Given the description of an element on the screen output the (x, y) to click on. 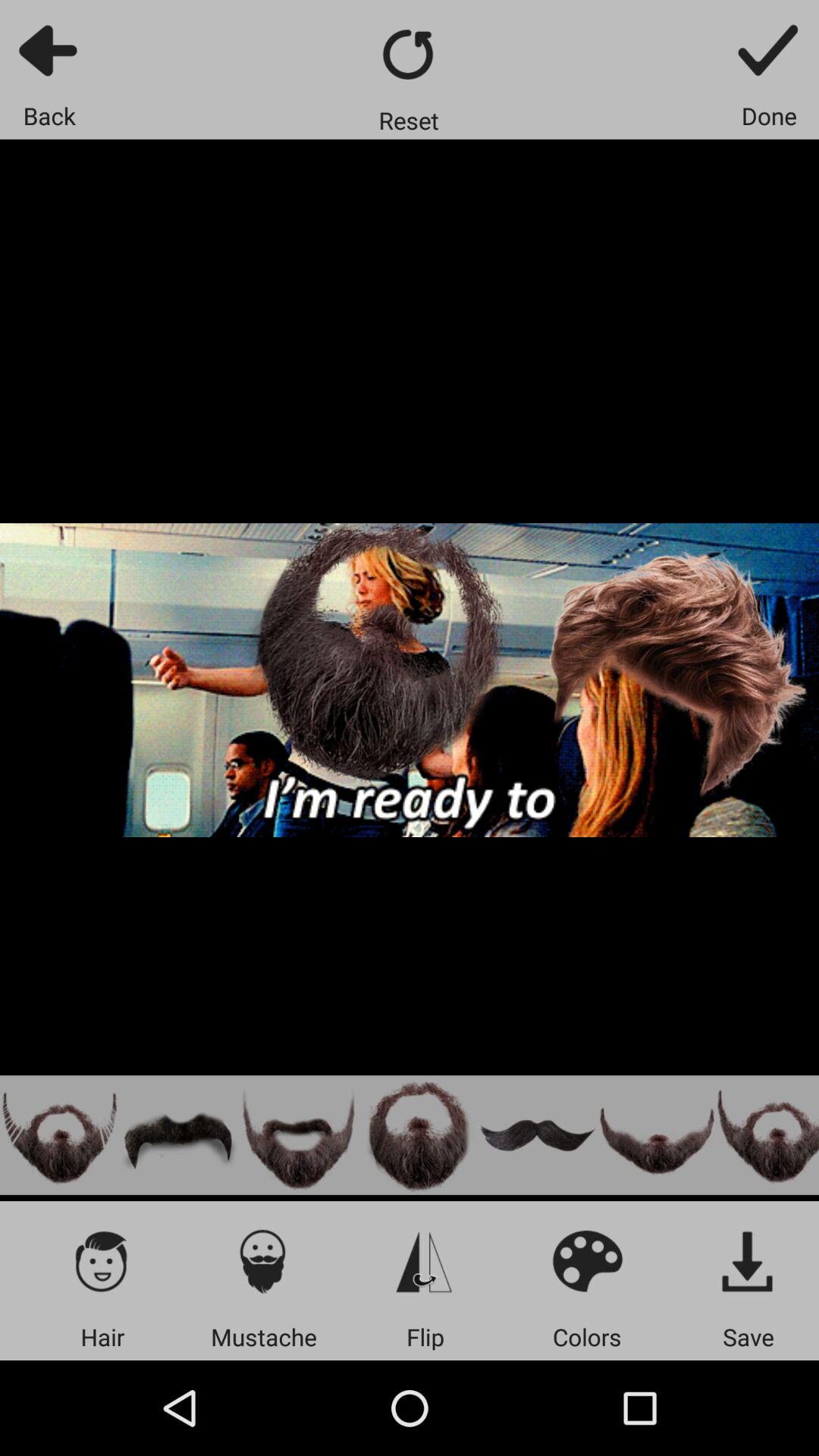
launch app above the mustache icon (263, 1260)
